Given the description of an element on the screen output the (x, y) to click on. 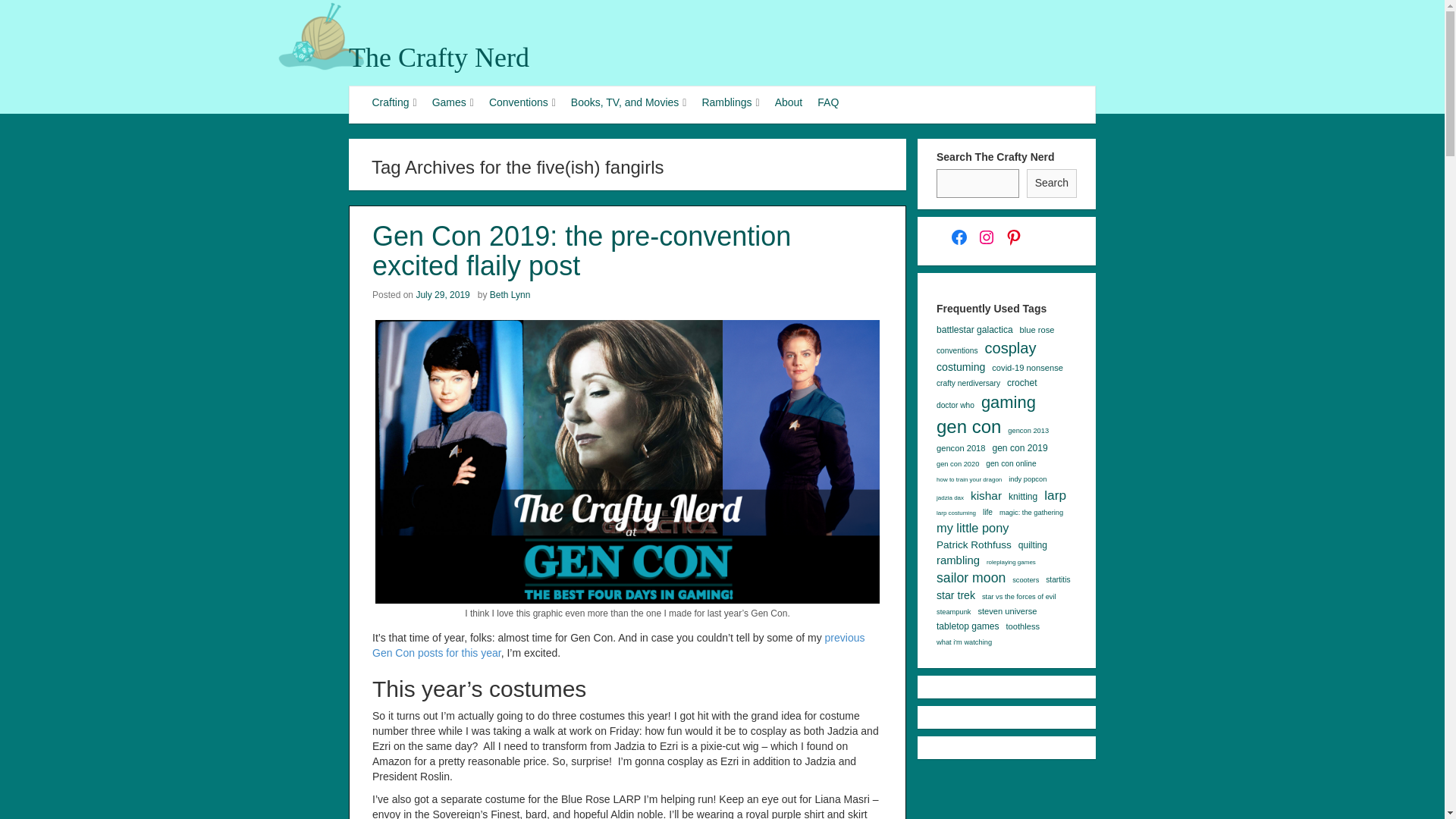
Crafting (393, 102)
The Crafty Nerd (439, 57)
Games (453, 102)
About (788, 102)
Beth Lynn (510, 294)
Conventions (522, 102)
Ramblings (729, 102)
July 29, 2019 (441, 294)
Books, TV, and Movies (628, 102)
FAQ (827, 102)
Gen Con 2019: the pre-convention excited flaily post (581, 250)
previous Gen Con posts for this year (618, 645)
